Given the description of an element on the screen output the (x, y) to click on. 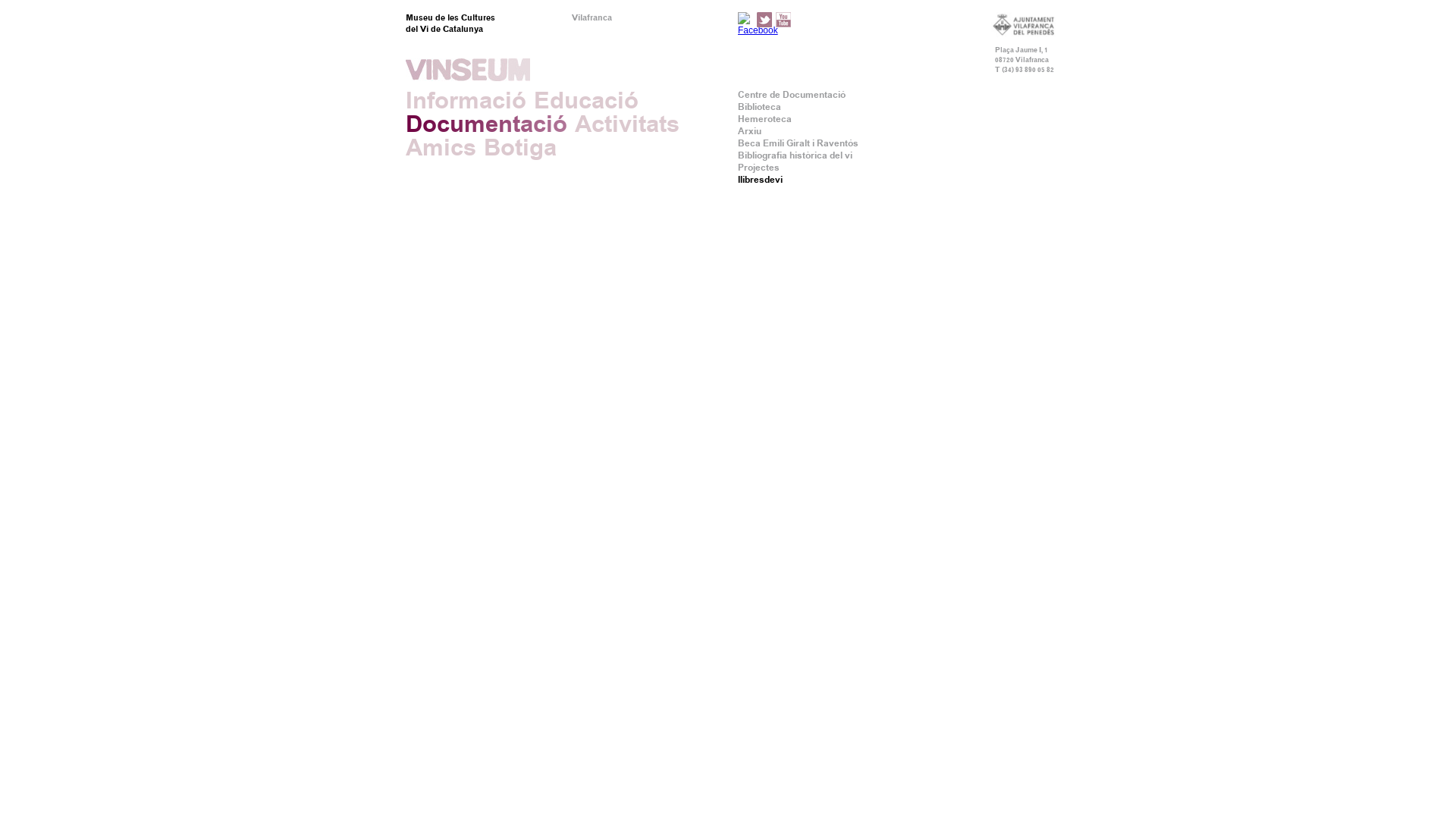
llibresdevi Element type: text (759, 179)
Biblioteca Element type: text (759, 106)
Botiga Element type: text (519, 147)
Amics Element type: text (440, 147)
Hemeroteca Element type: text (764, 118)
Projectes Element type: text (758, 167)
Arxiu Element type: text (749, 130)
Activitats Element type: text (626, 123)
